Given the description of an element on the screen output the (x, y) to click on. 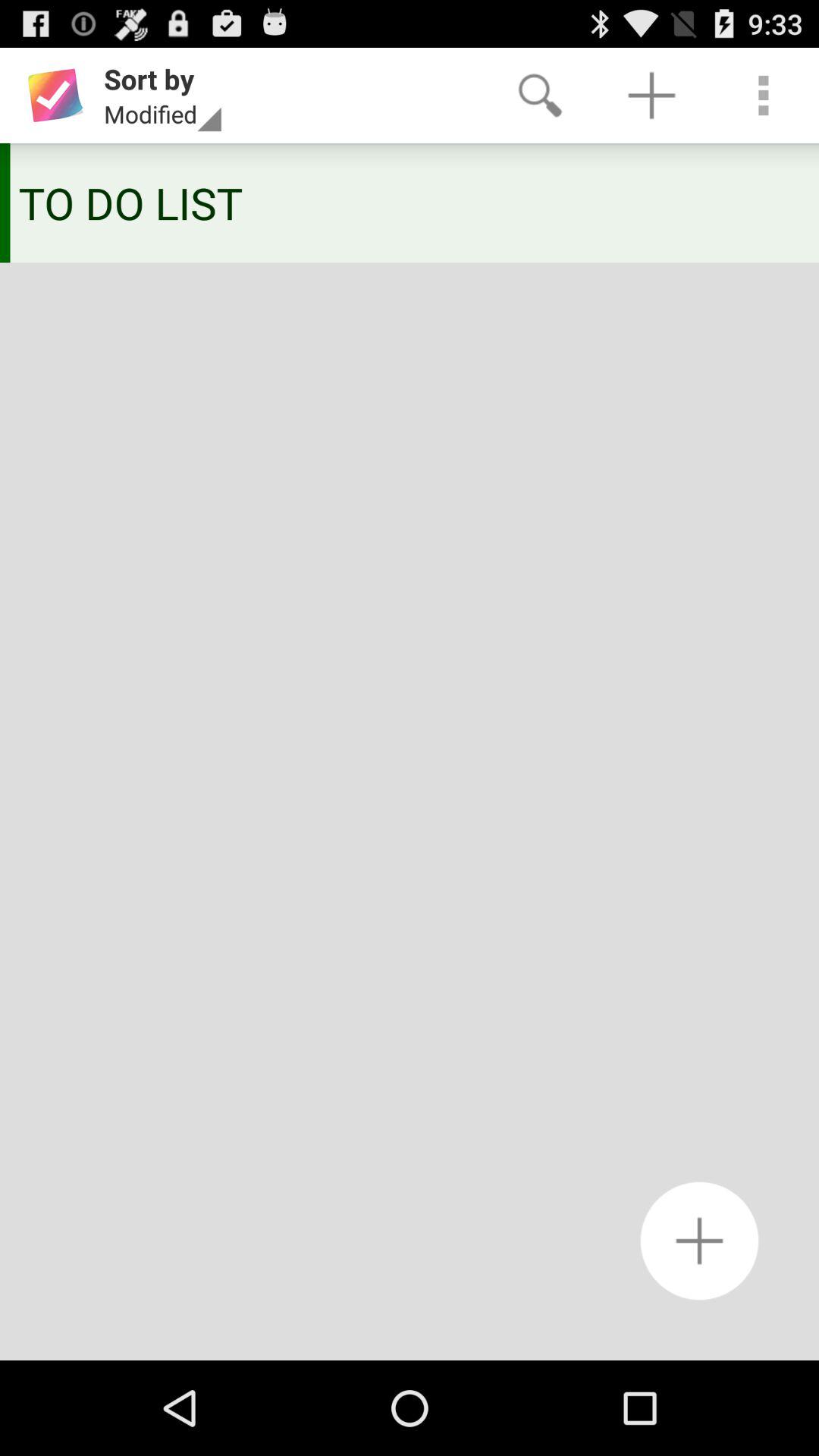
add a new to do list (699, 1240)
